Given the description of an element on the screen output the (x, y) to click on. 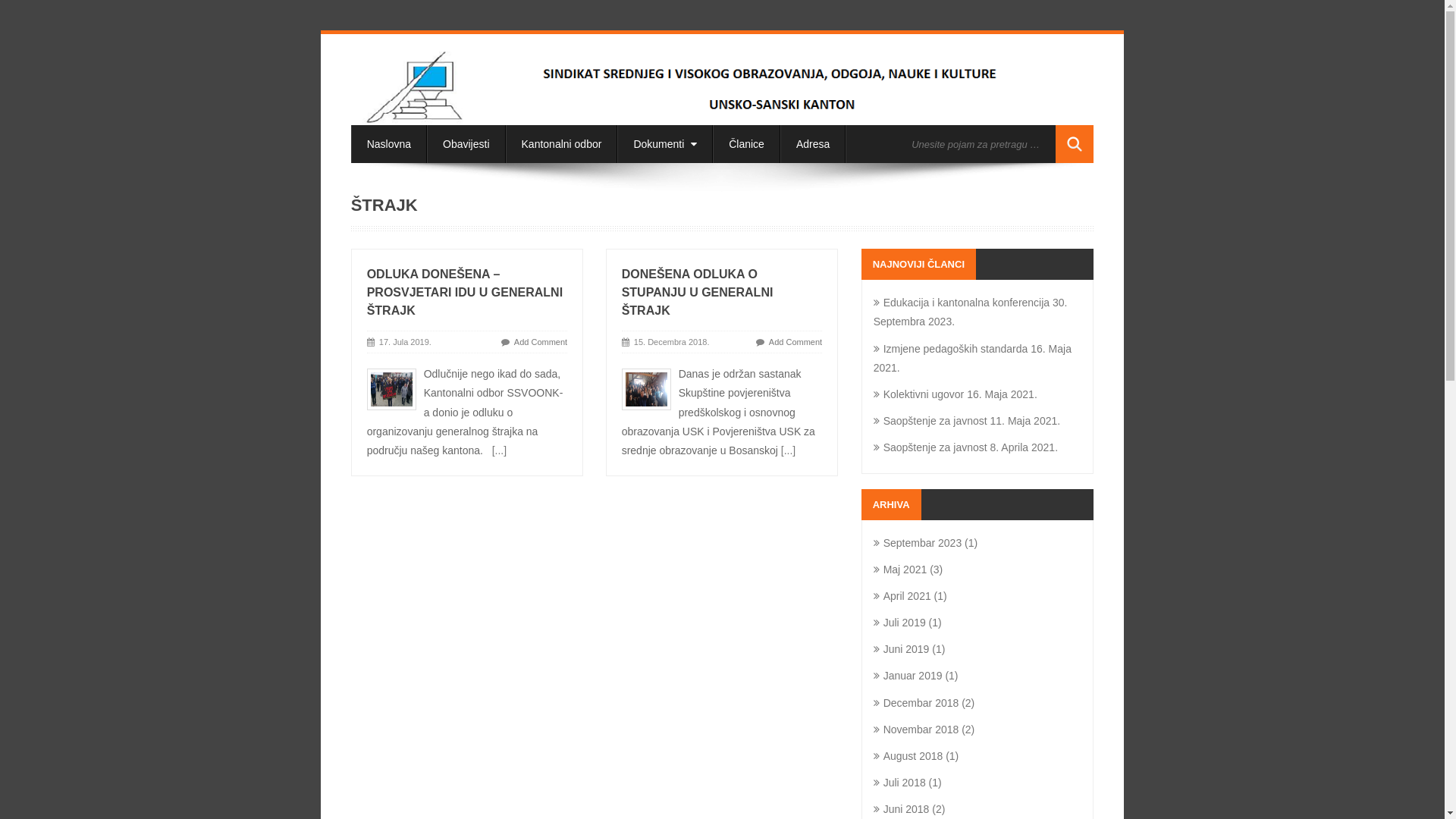
Dokumenti Element type: text (664, 144)
Decembar 2018 Element type: text (916, 702)
Juni 2018 Element type: text (901, 809)
Juli 2018 Element type: text (899, 782)
Januar 2019 Element type: text (907, 675)
Obavijesti Element type: text (465, 144)
[...] Element type: text (788, 450)
August 2018 Element type: text (908, 755)
Naslovna Element type: text (388, 144)
Add Comment Element type: text (795, 341)
[...] Element type: text (499, 450)
Juni 2019 Element type: text (901, 649)
Adresa Element type: text (812, 144)
April 2021 Element type: text (902, 595)
Add Comment Element type: text (540, 341)
Septembar 2023 Element type: text (917, 542)
Novembar 2018 Element type: text (916, 729)
Search for: Element type: hover (979, 144)
Kantonalni odbor Element type: text (561, 144)
Maj 2021 Element type: text (900, 569)
Juli 2019 Element type: text (899, 622)
Kolektivni ugovor Element type: text (918, 394)
Edukacija i kantonalna konferencija Element type: text (961, 302)
